Given the description of an element on the screen output the (x, y) to click on. 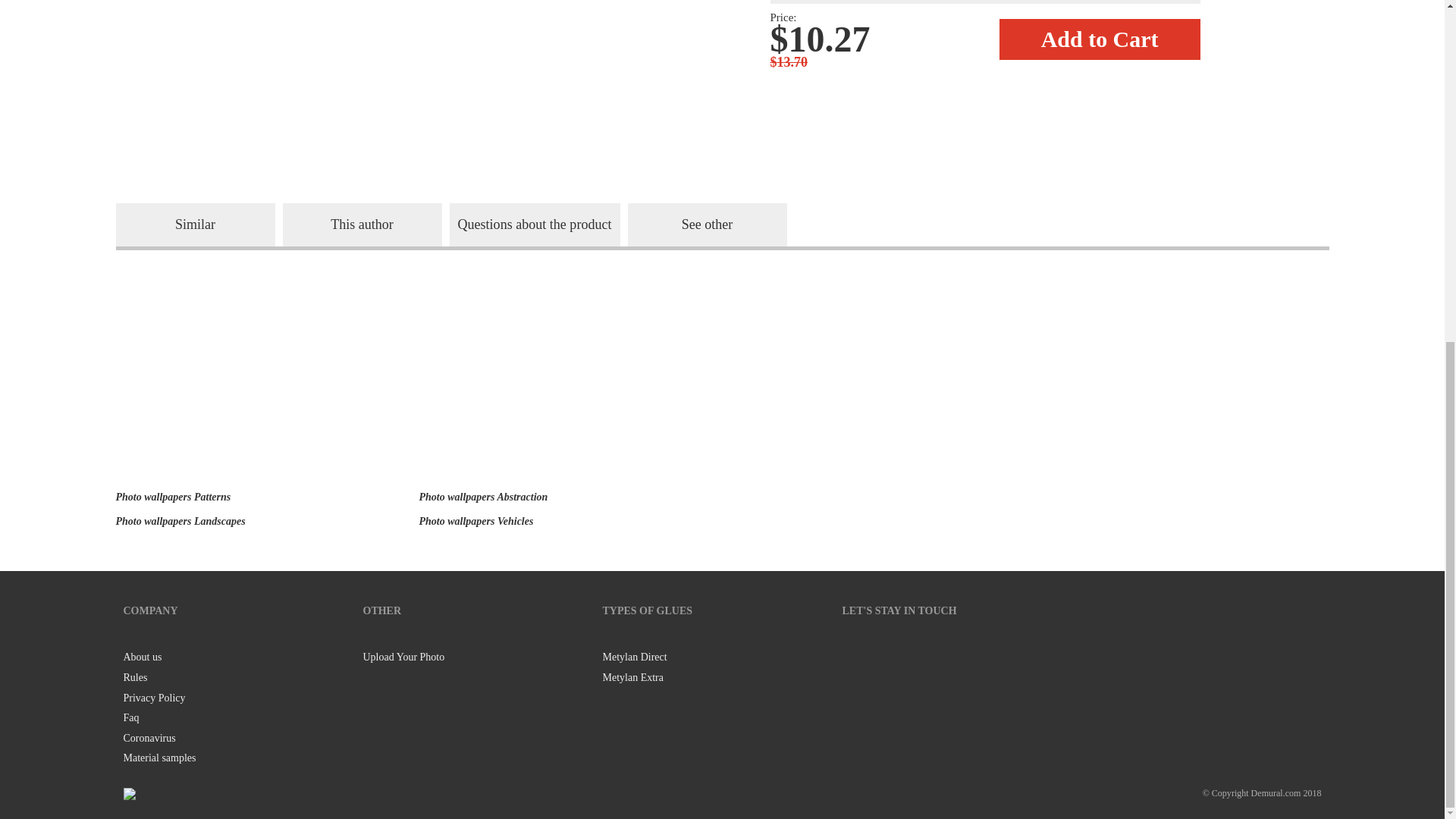
Add to Cart (1098, 38)
